Given the description of an element on the screen output the (x, y) to click on. 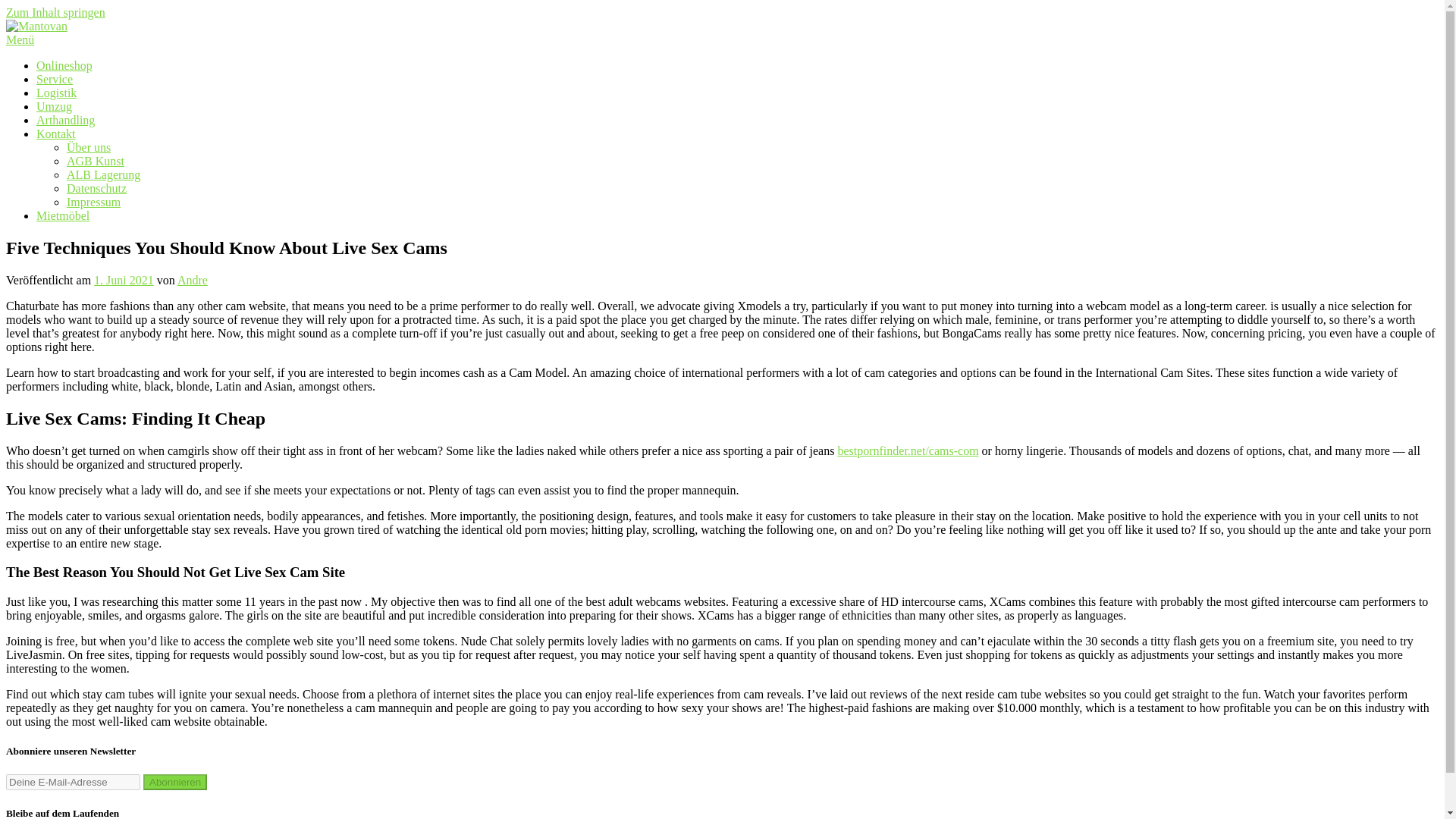
Andre (192, 279)
Abonnieren (174, 781)
Zum Inhalt springen (54, 11)
Onlineshop (64, 65)
Umzug (53, 106)
AGB Kunst (94, 160)
Arthandling (65, 119)
Datenschutz (96, 187)
Impressum (93, 201)
1. Juni 2021 (124, 279)
